Given the description of an element on the screen output the (x, y) to click on. 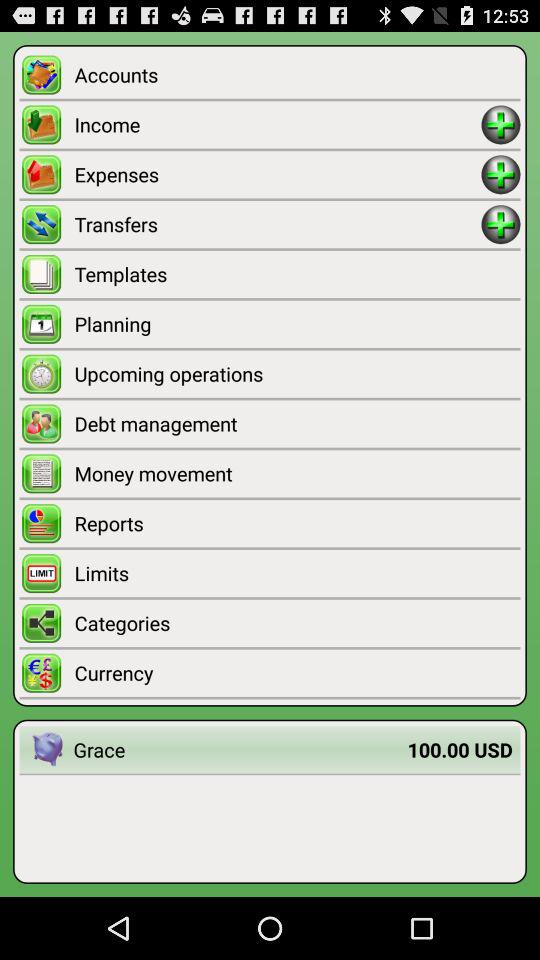
launch the item above the templates app (277, 223)
